Given the description of an element on the screen output the (x, y) to click on. 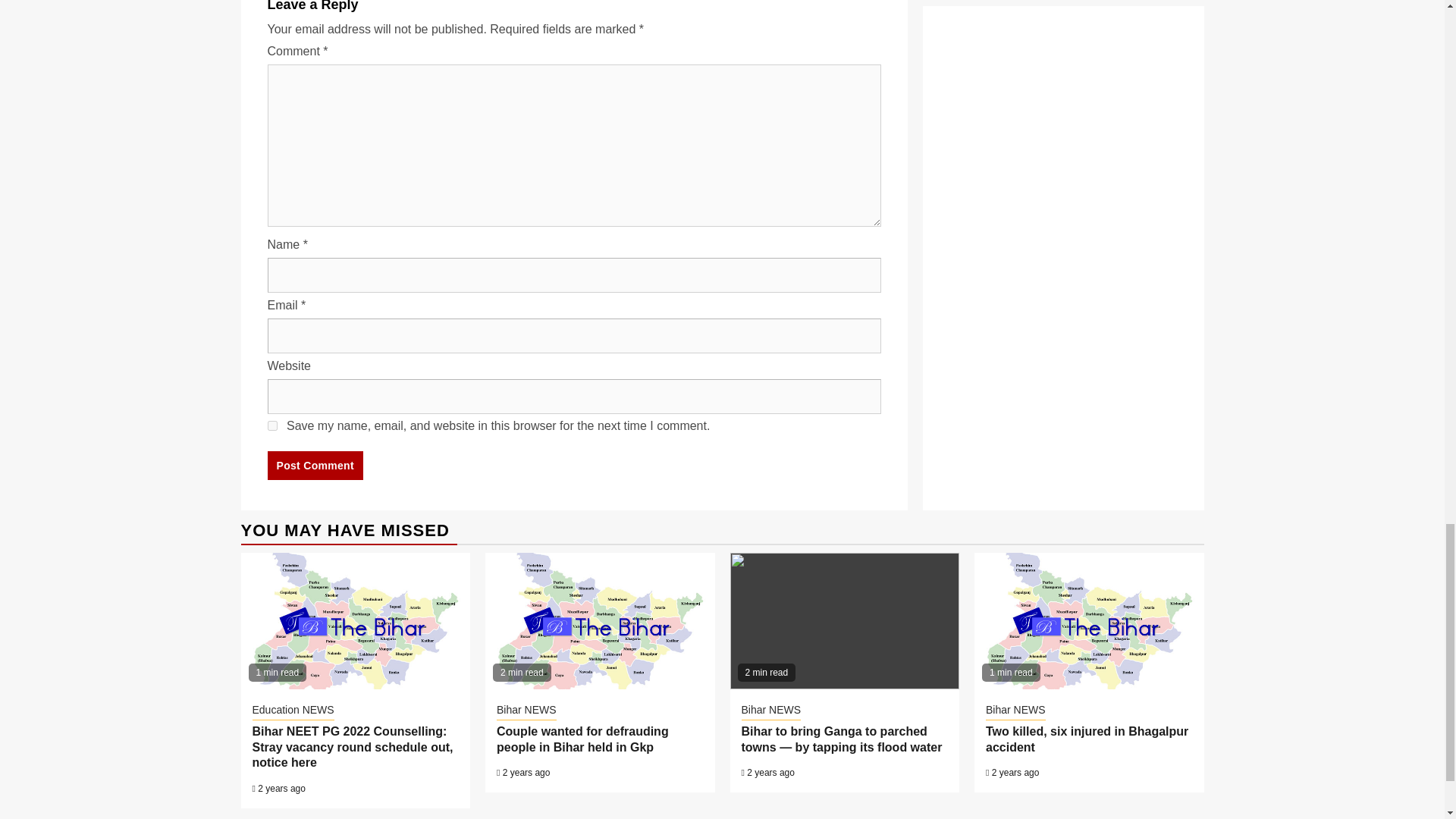
yes (271, 425)
Post Comment (314, 465)
